Given the description of an element on the screen output the (x, y) to click on. 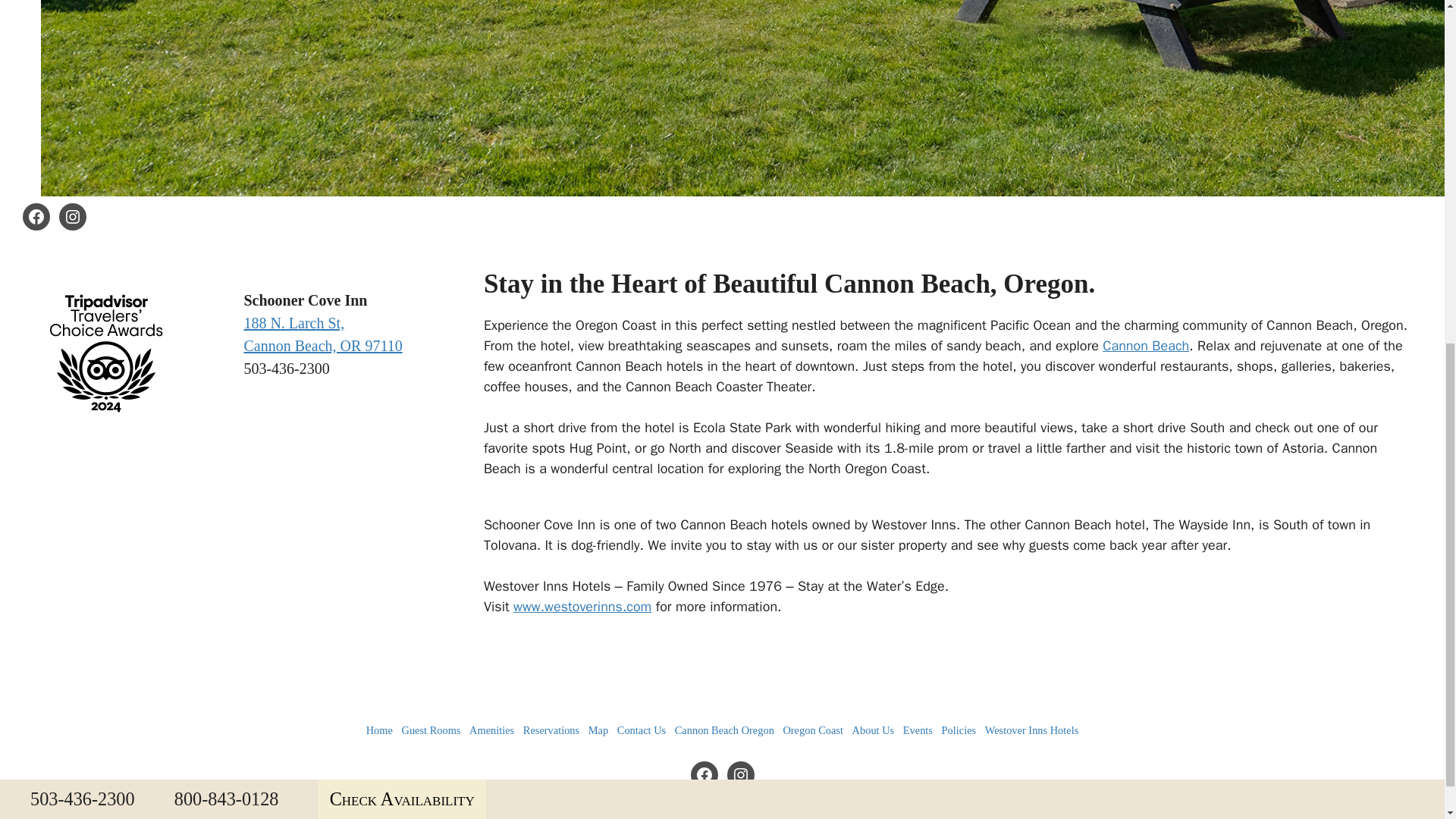
Events (917, 729)
Cannon Beach (1145, 345)
Instagram (72, 216)
Instagram (740, 774)
Westover Inns Hotels (1031, 729)
Oregon Coast (813, 729)
About Us (873, 729)
Amenities (490, 729)
Contact Us (641, 729)
Cannon Beach Oregon (724, 729)
